Given the description of an element on the screen output the (x, y) to click on. 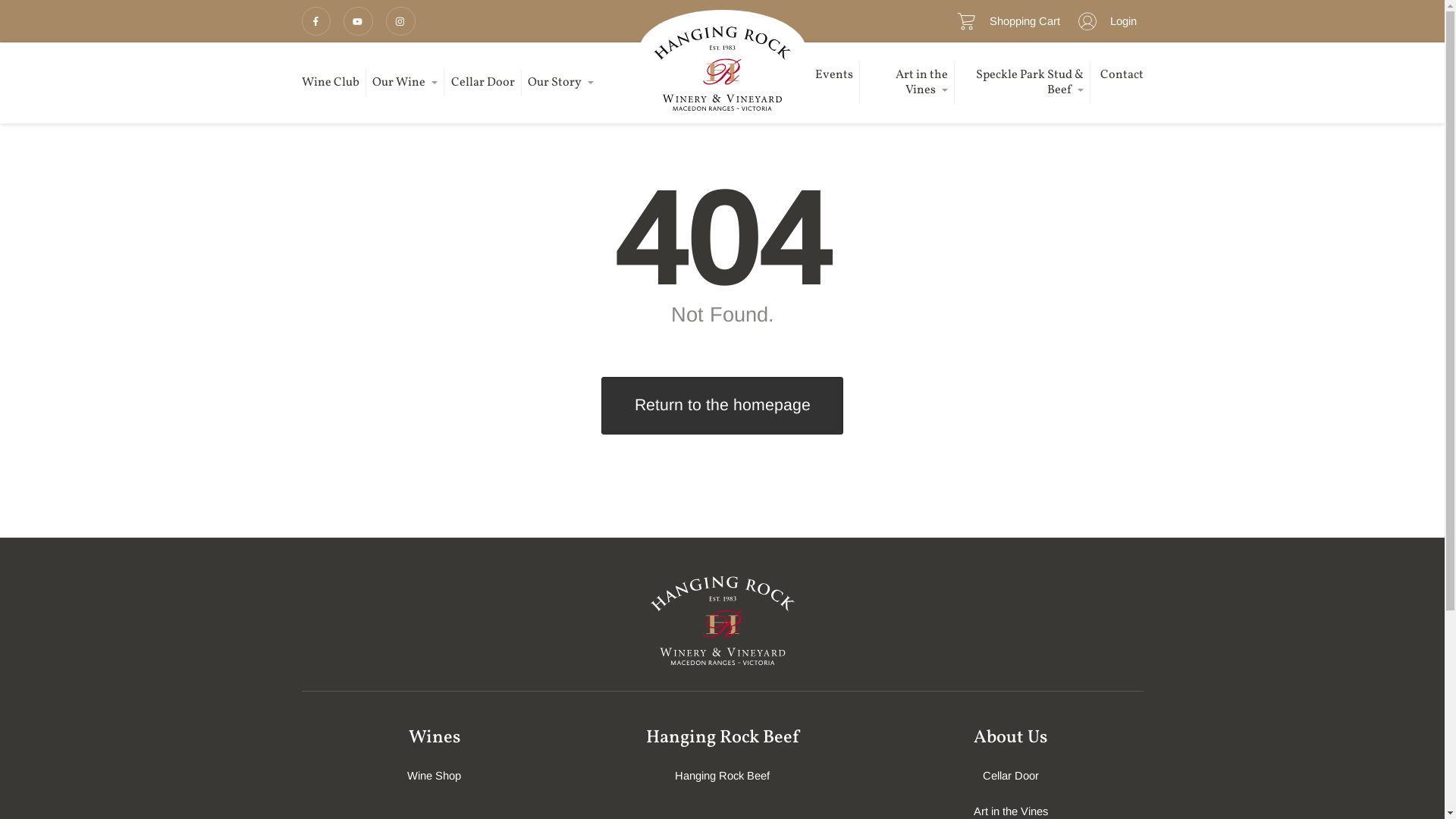
Return to the homepage Element type: text (722, 405)
youtube Element type: hover (358, 20)
Hanging Rock Winery Logo Element type: hover (722, 620)
Cellar Door Element type: text (482, 83)
Events Element type: text (834, 75)
Login Element type: text (1104, 20)
Shopping Cart Element type: text (1005, 20)
Cellar Door Element type: text (1010, 775)
Wine Club Element type: text (330, 83)
Art in the Vines Element type: text (908, 82)
Hanging Rock Winery Logo Element type: hover (721, 59)
Contact Element type: text (1120, 75)
Wine Shop Element type: text (434, 775)
Our Story Element type: text (560, 83)
Speckle Park Stud & Beef Element type: text (1023, 82)
Hanging Rock Beef Element type: text (722, 775)
instagram Element type: hover (400, 20)
facebook Element type: hover (316, 20)
Our Wine Element type: text (404, 83)
